Given the description of an element on the screen output the (x, y) to click on. 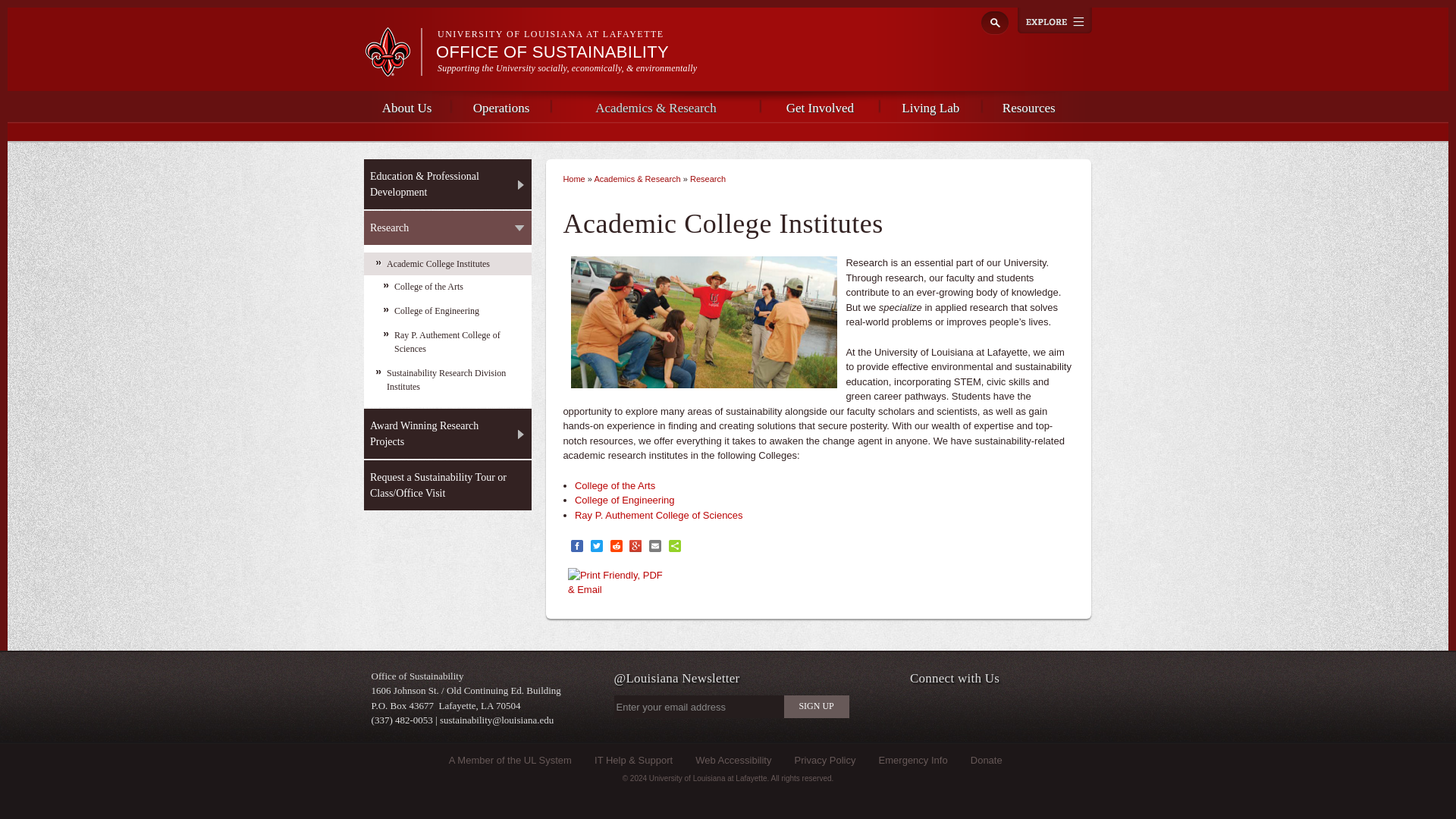
OFFICE OF SUSTAINABILITY (551, 51)
About Us (406, 106)
UNIVERSITY OF LOUISIANA AT LAFAYETTE (550, 33)
Skip to main content (700, 1)
Louisiana.edu (393, 69)
Home (551, 51)
SIGN UP (816, 706)
Operations (501, 106)
Explore (1054, 20)
